Given the description of an element on the screen output the (x, y) to click on. 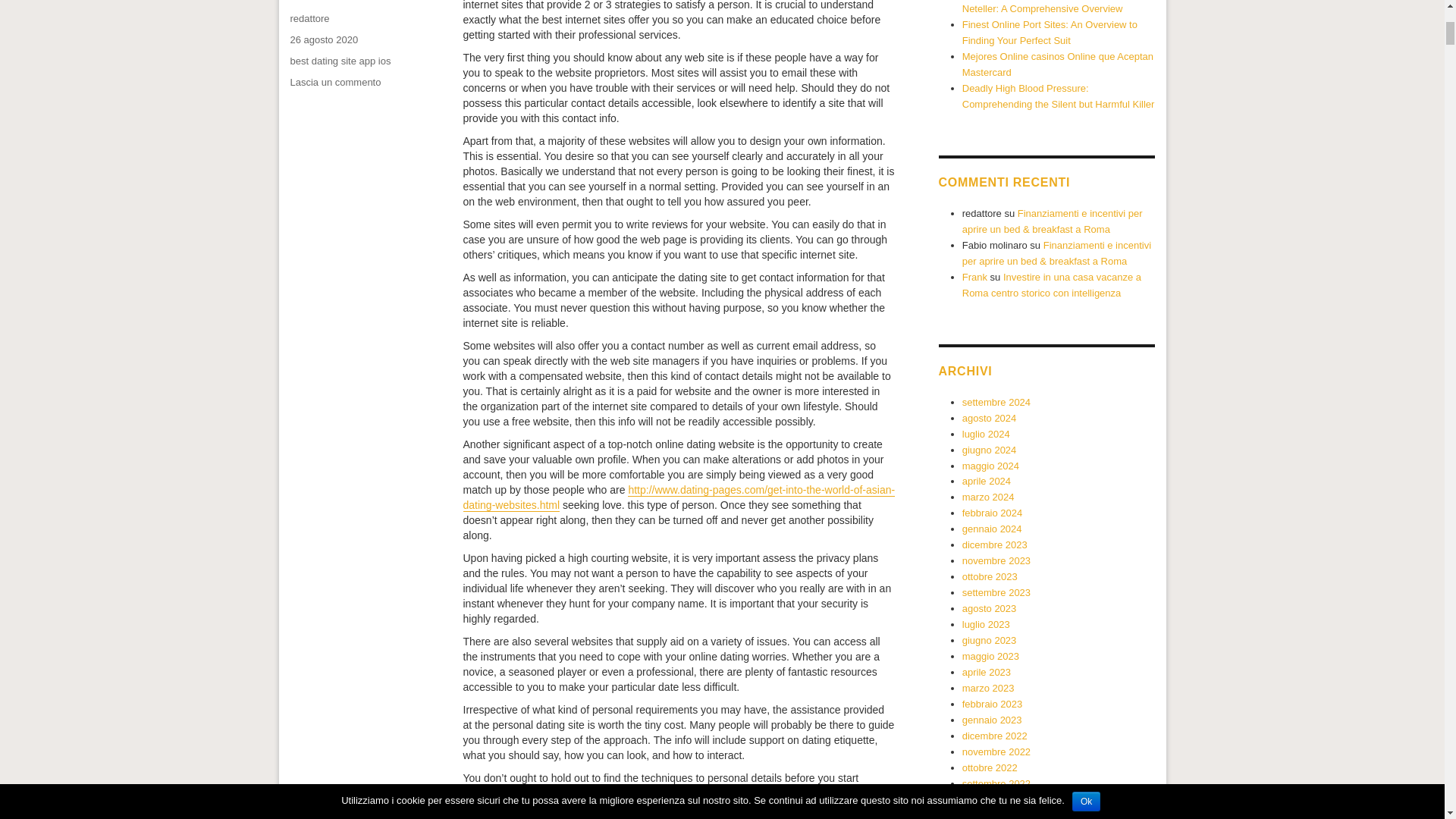
Frank (334, 81)
agosto 2024 (974, 276)
luglio 2024 (989, 418)
giugno 2024 (986, 433)
redattore (989, 449)
